Given the description of an element on the screen output the (x, y) to click on. 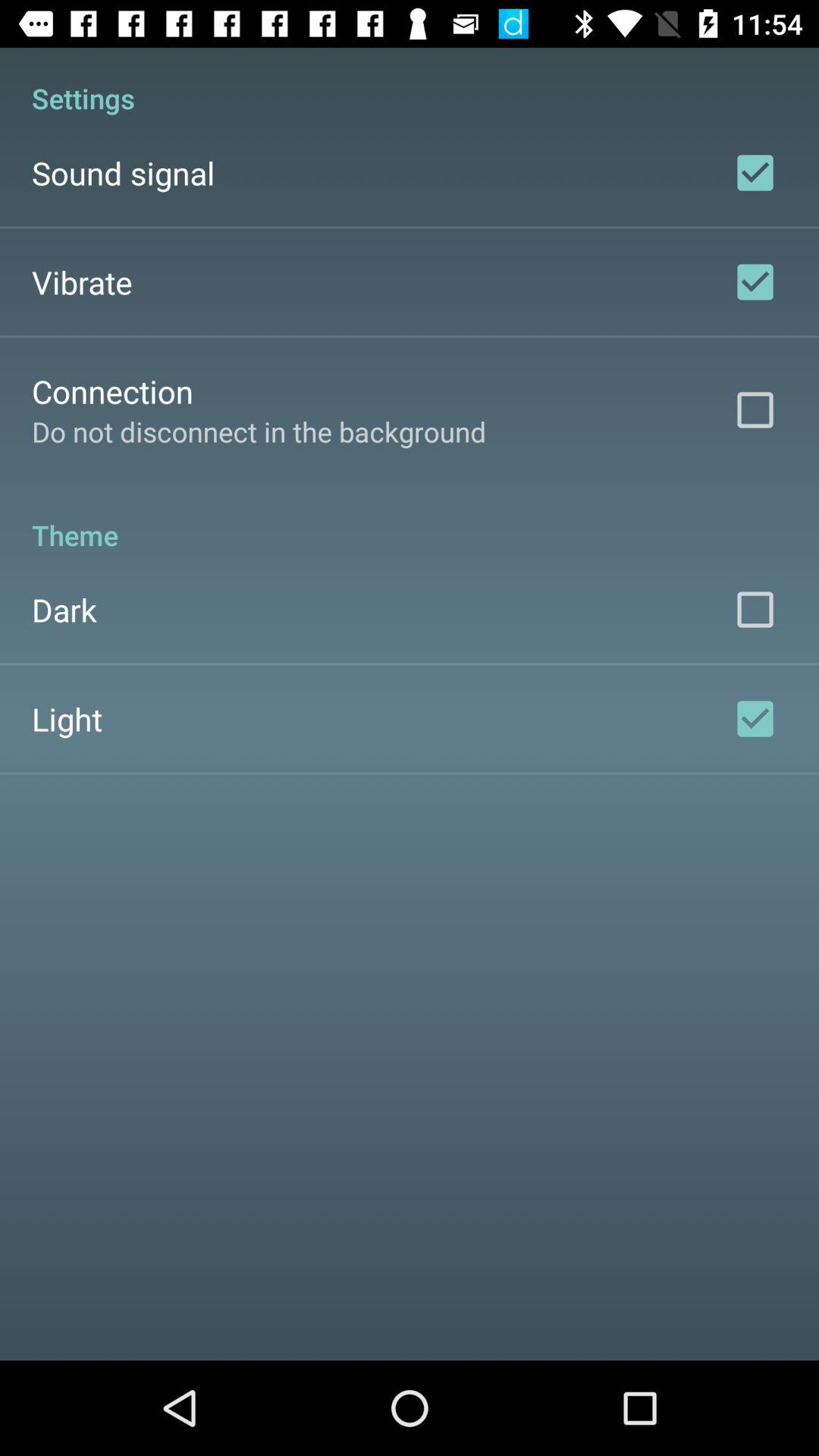
choose the settings icon (409, 82)
